Given the description of an element on the screen output the (x, y) to click on. 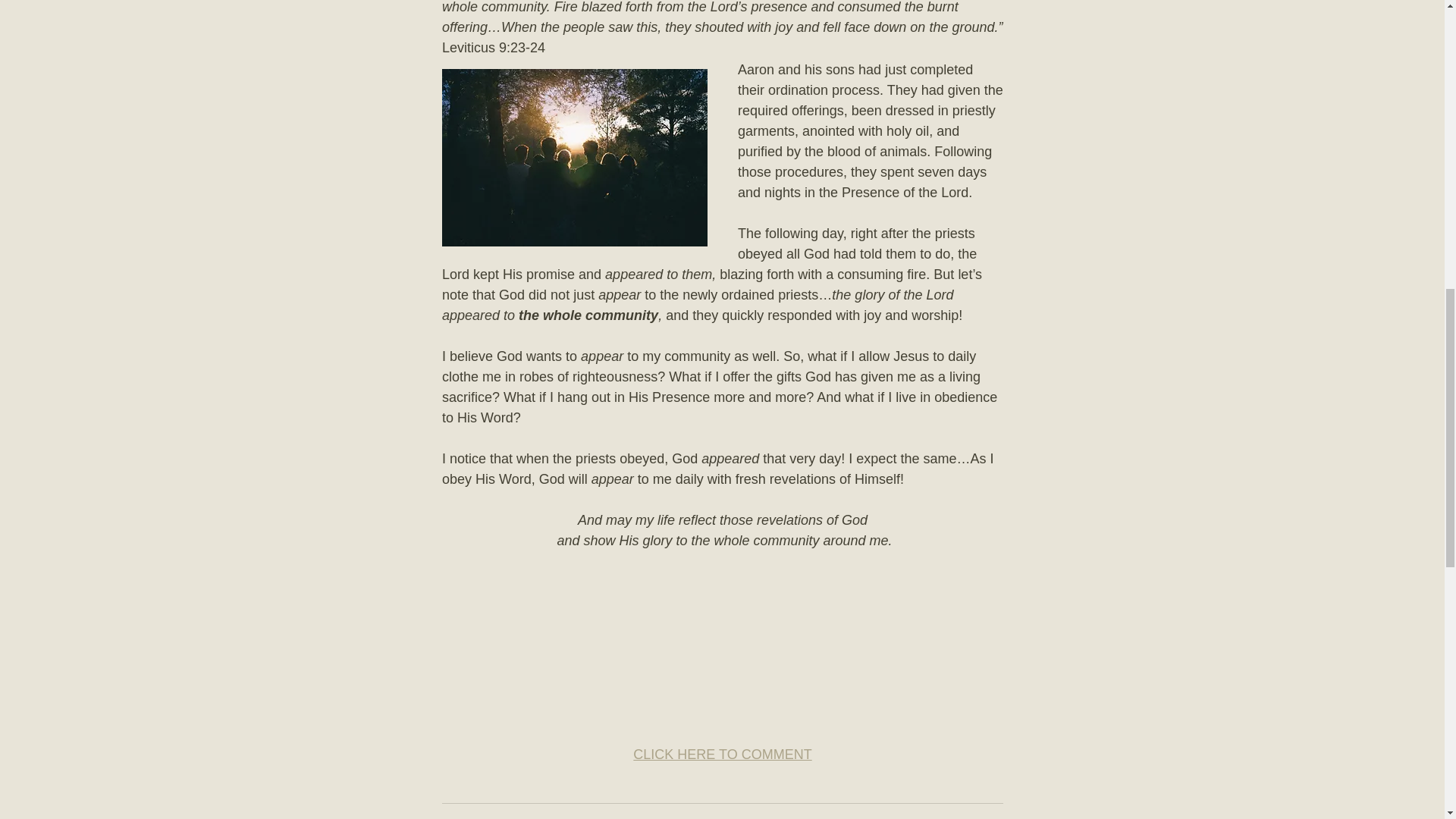
CLICK HERE TO COMMENT (721, 754)
ricos-video (722, 630)
